Given the description of an element on the screen output the (x, y) to click on. 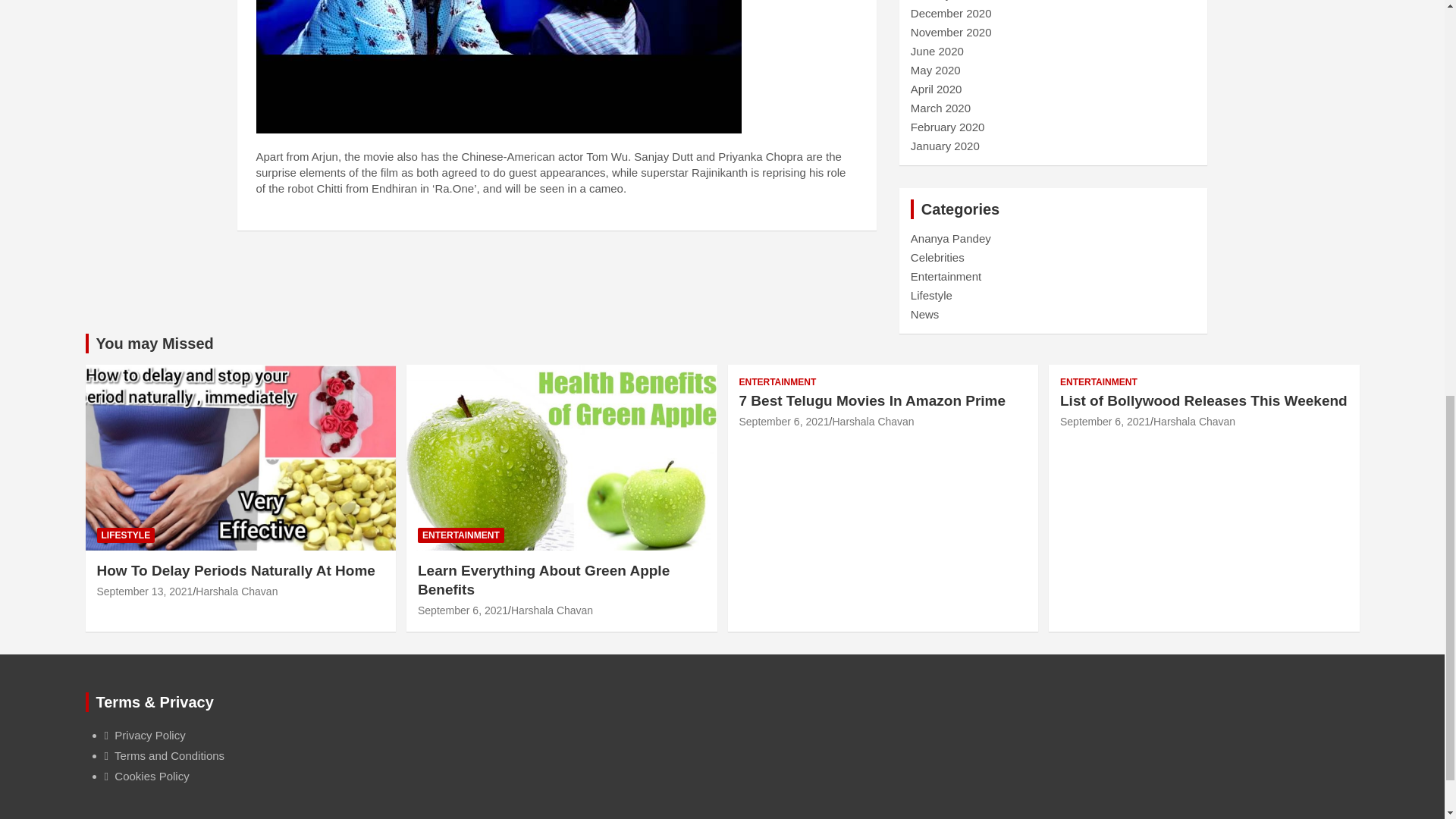
List of Bollywood Releases This Weekend (1104, 421)
March 2020 (941, 107)
Entertainment (946, 276)
You may Missed (154, 343)
September 13, 2021 (145, 591)
LIFESTYLE (126, 535)
How To Delay Periods Naturally At Home (145, 591)
Harshala Chavan (236, 591)
News (925, 314)
7 Best Telugu Movies In Amazon Prime (783, 421)
February 2020 (948, 126)
January 2021 (945, 0)
January 2020 (945, 145)
How To Delay Periods Naturally At Home (236, 570)
Learn Everything About Green Apple Benefits (462, 610)
